Given the description of an element on the screen output the (x, y) to click on. 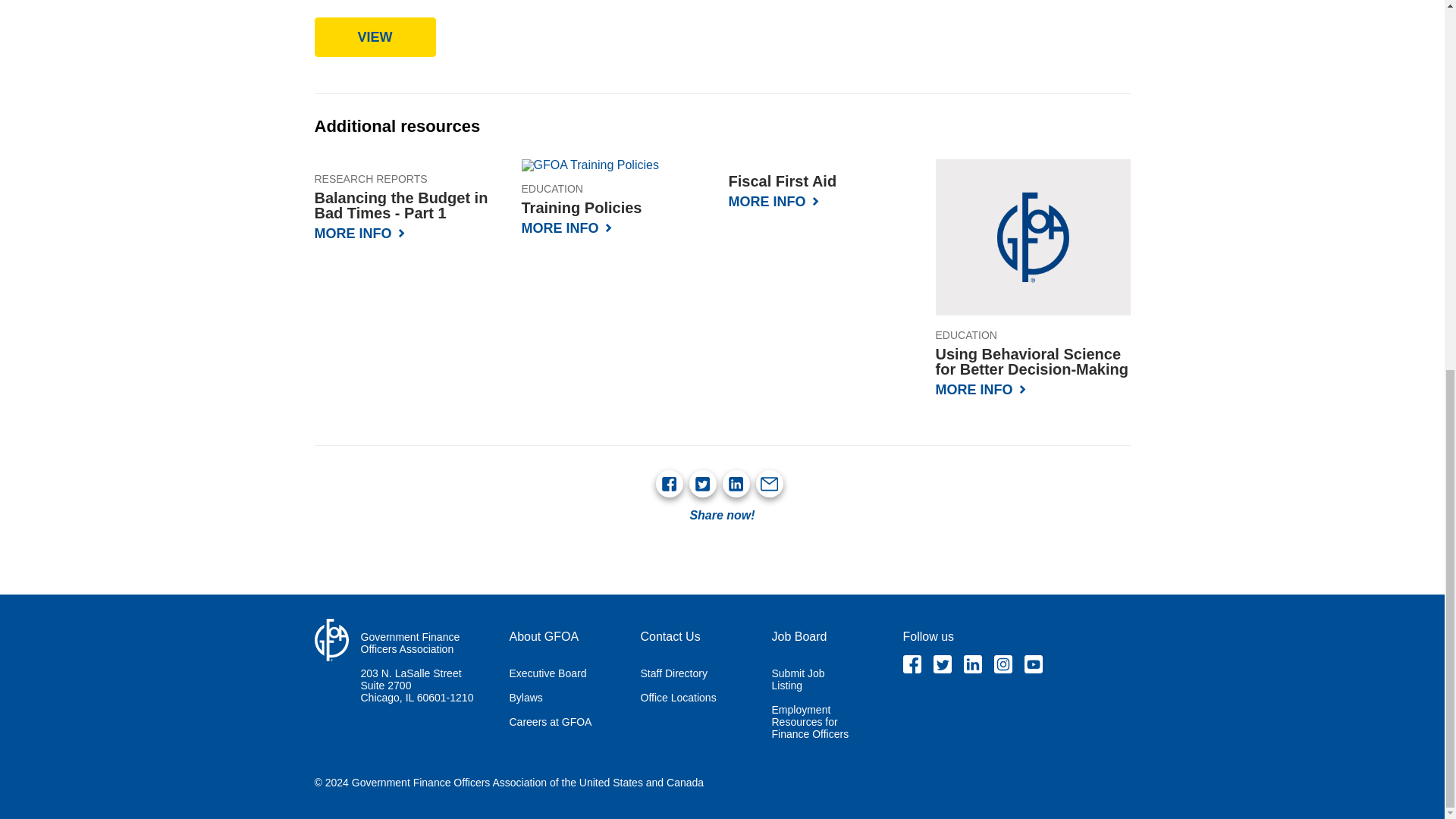
Facebook (669, 483)
Assessing Risks Related to Cyber Crime (374, 36)
Facebook (911, 664)
GFOA (330, 639)
LinkedIn (735, 483)
Twitter (702, 483)
YouTube (1032, 664)
Twitter (941, 664)
LinkedIn (971, 664)
Instagram (1001, 664)
